Given the description of an element on the screen output the (x, y) to click on. 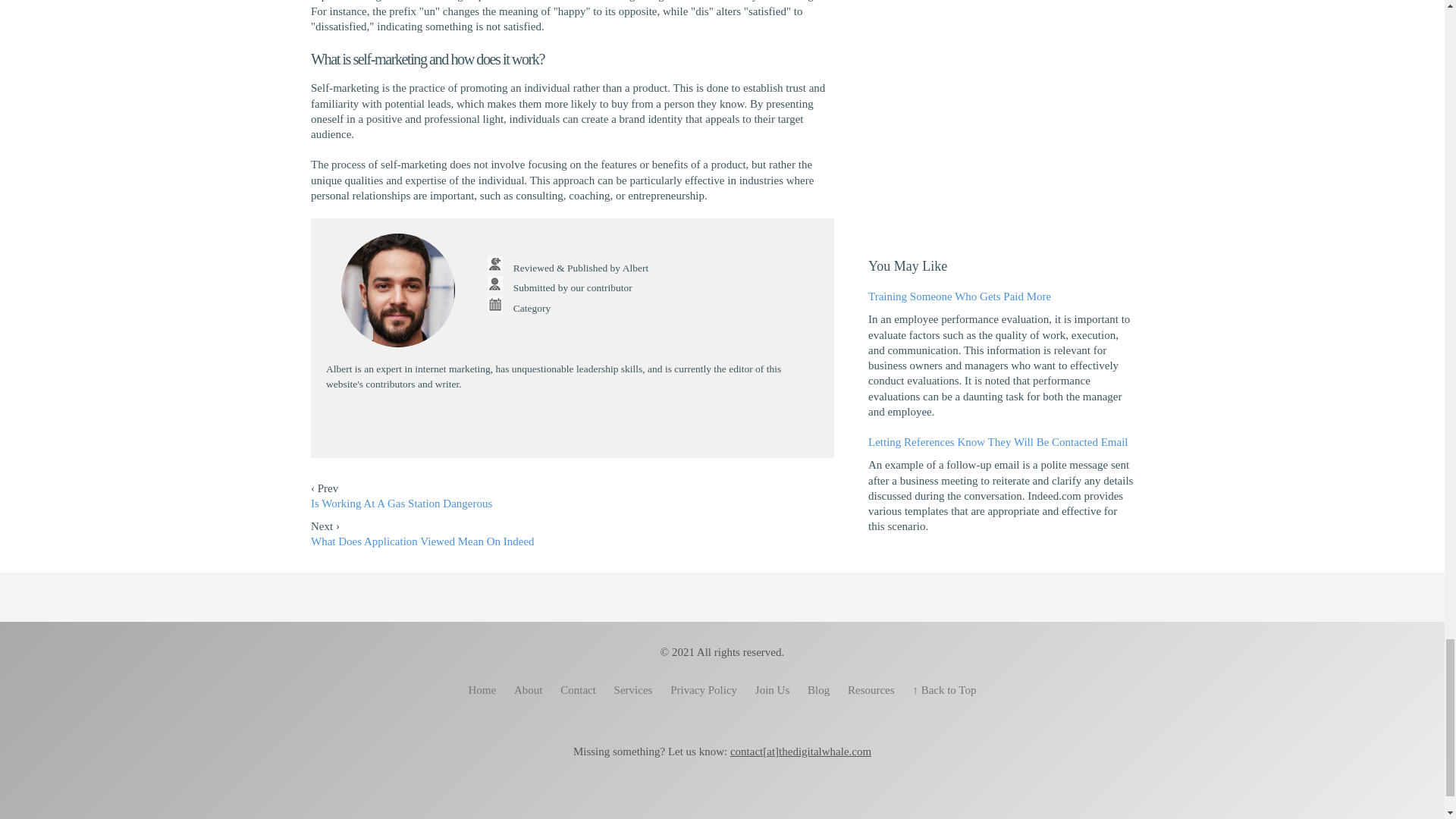
Privacy Policy (703, 689)
LinkedIn (597, 425)
Blog (818, 689)
Youtube (722, 800)
Twitter (772, 800)
Facebook (521, 425)
Home (482, 689)
Is Working At A Gas Station Dangerous (401, 503)
Resources (871, 689)
Youtube (571, 425)
